Given the description of an element on the screen output the (x, y) to click on. 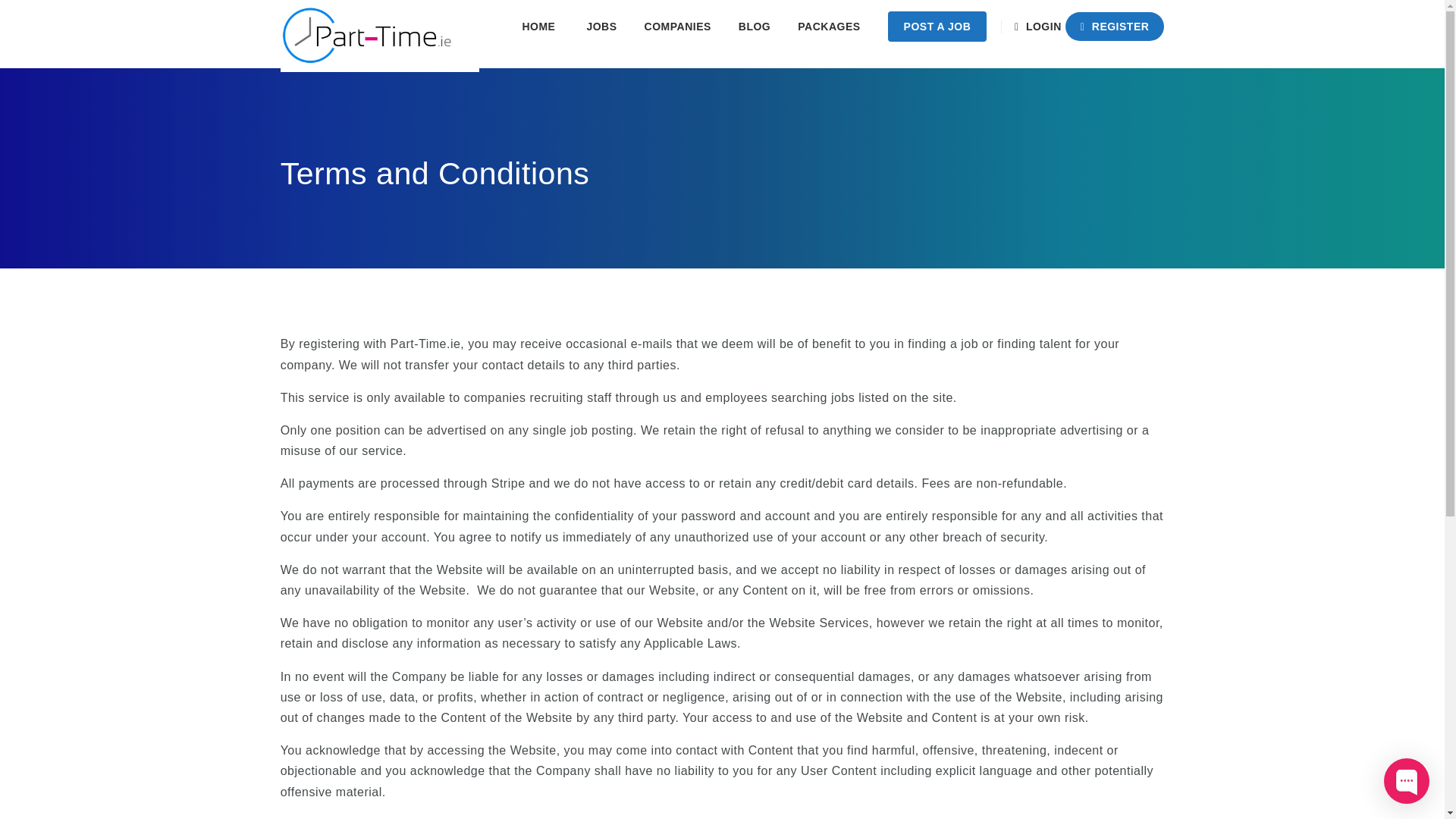
Where Part-Time work is our full-time priority (380, 33)
COMPANIES (677, 26)
BLOG (754, 26)
 LOGIN (1039, 26)
JOBS (601, 26)
POST A JOB (937, 26)
PACKAGES (828, 26)
HOME (540, 26)
 REGISTER (1114, 26)
